Given the description of an element on the screen output the (x, y) to click on. 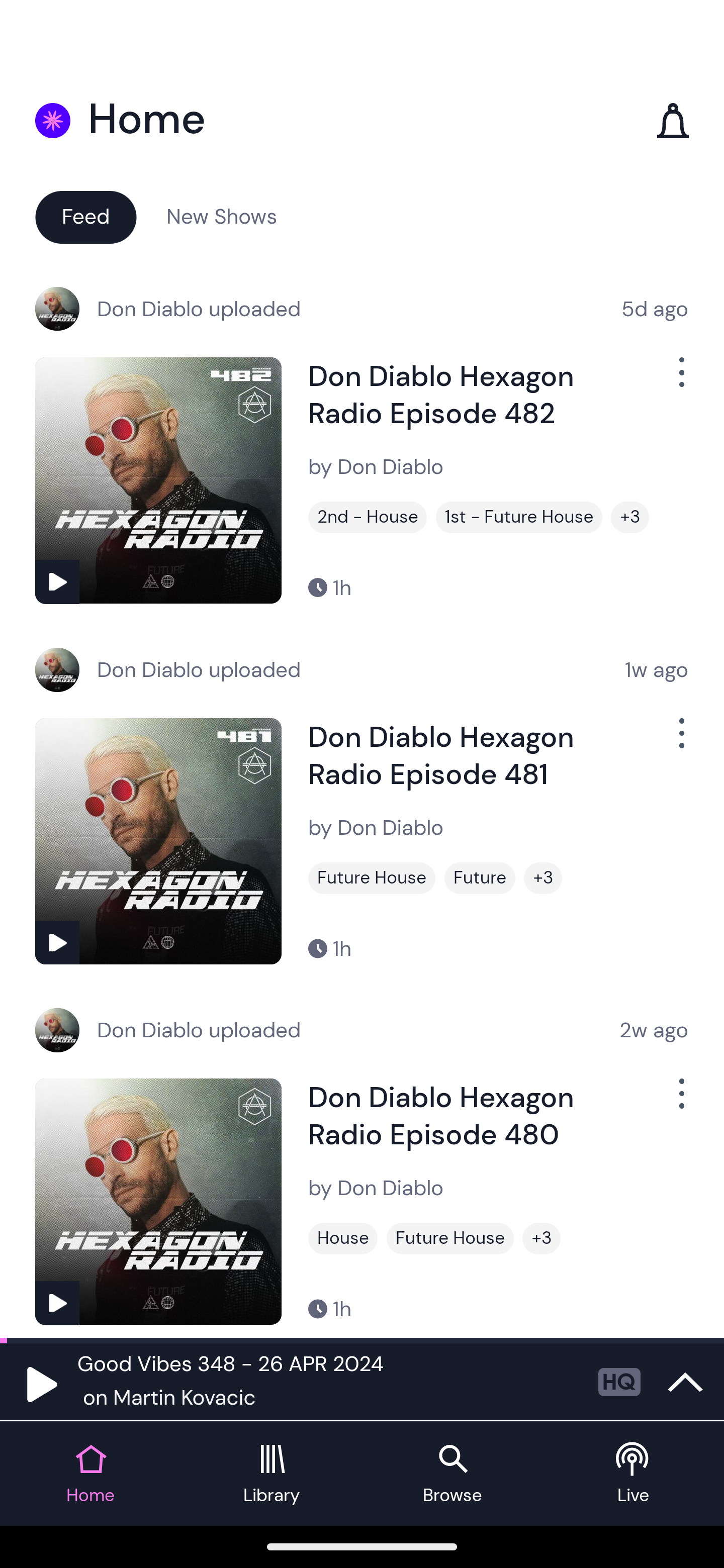
Feed (85, 216)
New Shows (221, 216)
Show Options Menu Button (679, 379)
2nd - House (367, 517)
1st - Future House (518, 517)
Show Options Menu Button (679, 740)
Future House (371, 877)
Future (479, 877)
Show Options Menu Button (679, 1101)
House (342, 1238)
Future House (450, 1238)
Home tab Home (90, 1473)
Library tab Library (271, 1473)
Browse tab Browse (452, 1473)
Live tab Live (633, 1473)
